Given the description of an element on the screen output the (x, y) to click on. 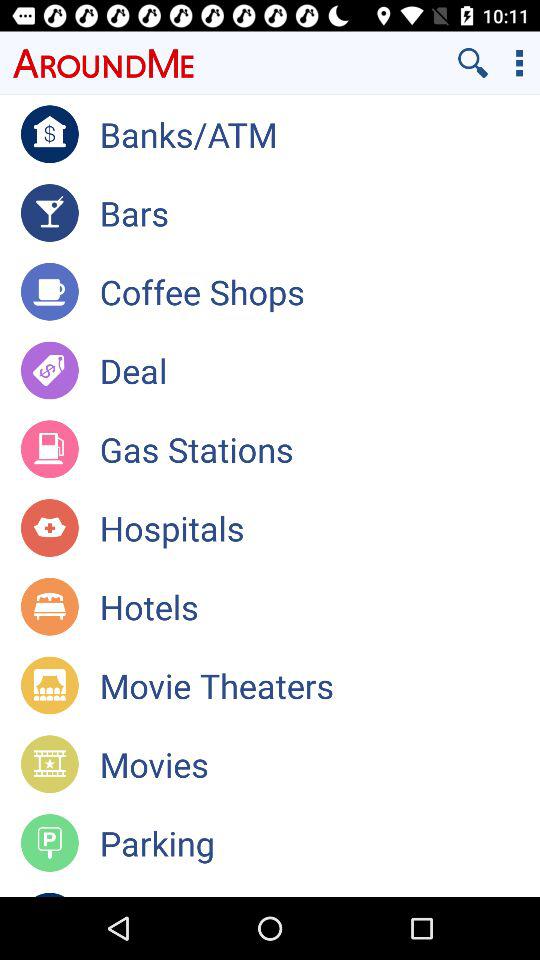
swipe until the movie theaters (319, 685)
